Given the description of an element on the screen output the (x, y) to click on. 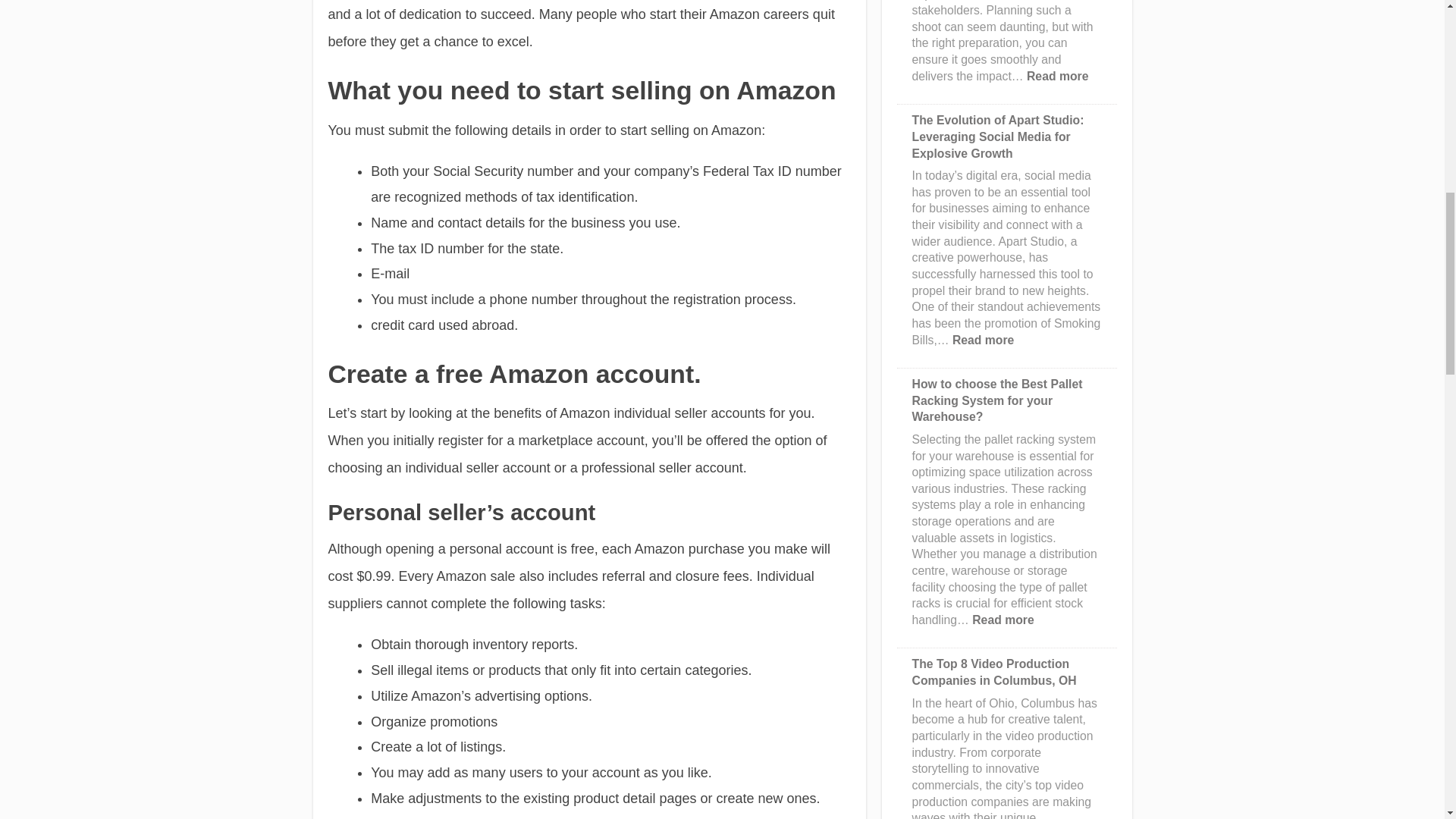
The Top 8 Video Production Companies in Columbus, OH (1056, 75)
